Given the description of an element on the screen output the (x, y) to click on. 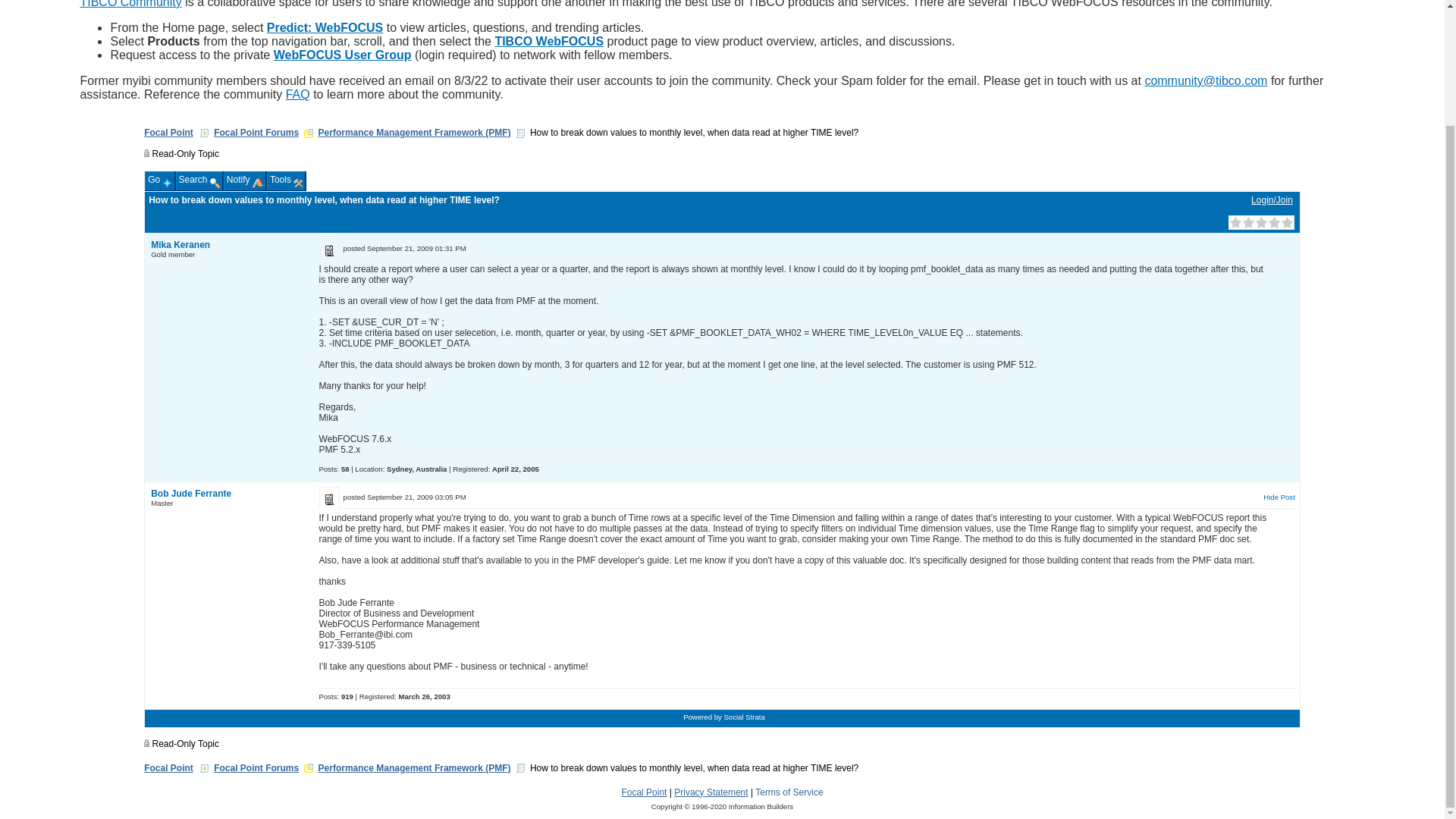
Focal Point (168, 132)
Hop To Forum Categories (308, 768)
WebFOCUS User Group (342, 54)
FAQ (297, 93)
Predict: WebFOCUS (325, 27)
TIBCO Community (130, 4)
Focal Point Forums (256, 132)
Hop To Forum Categories (308, 133)
TIBCO WebFOCUS (549, 41)
GO (307, 35)
